Given the description of an element on the screen output the (x, y) to click on. 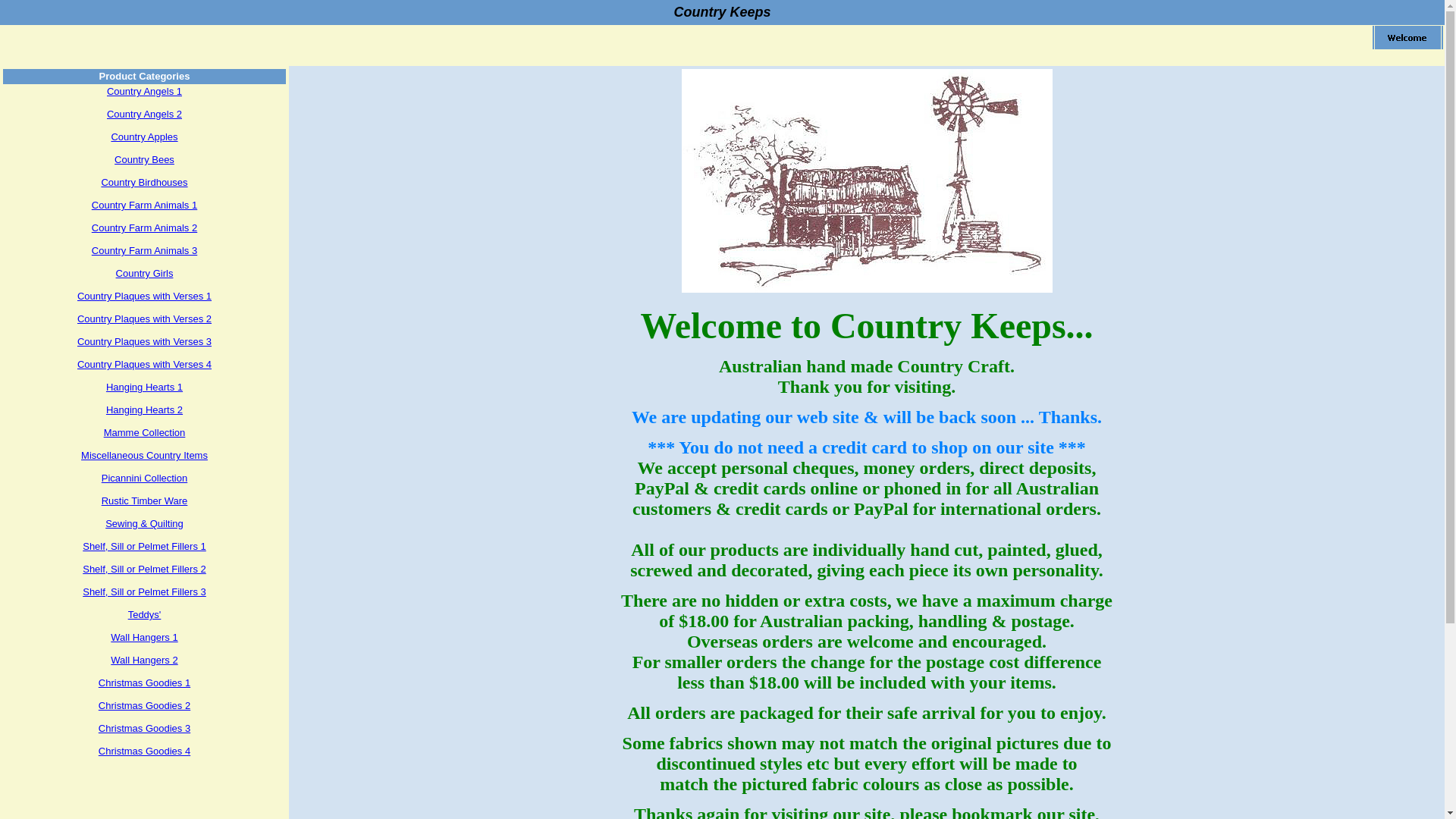
Rustic Timber Ware Element type: text (144, 500)
Country Plaques with Verses 1 Element type: text (144, 295)
Shelf, Sill or Pelmet Fillers 1 Element type: text (144, 546)
Country Angels 2 Element type: text (144, 113)
Country Farm Animals 3 Element type: text (144, 250)
Wall Hangers 2 Element type: text (143, 659)
Country Farm Animals 2 Element type: text (144, 227)
Shelf, Sill or Pelmet Fillers 3 Element type: text (144, 591)
Christmas Goodies 3 Element type: text (144, 728)
Christmas Goodies 1 Element type: text (144, 682)
Shelf, Sill or Pelmet Fillers 2 Element type: text (144, 568)
Miscellaneous Country Items Element type: text (144, 455)
Country Girls Element type: text (144, 273)
Christmas Goodies 4 Element type: text (144, 750)
Sewing & Quilting Element type: text (144, 523)
Mamme Collection Element type: text (144, 432)
Country Farm Animals 1 Element type: text (144, 204)
Hanging Hearts 1 Element type: text (144, 386)
Christmas Goodies 2 Element type: text (144, 705)
Country Plaques with Verses 4 Element type: text (144, 364)
Wall Hangers 1 Element type: text (143, 637)
Teddys' Element type: text (144, 614)
Country Plaques with Verses 3 Element type: text (144, 341)
Country Plaques with Verses 2 Element type: text (144, 318)
Country Bees Element type: text (144, 159)
Country Angels 1 Element type: text (144, 91)
Hanging Hearts 2 Element type: text (144, 409)
Country Apples Element type: text (143, 136)
Picannini Collection Element type: text (144, 477)
Country Birdhouses Element type: text (143, 182)
